Given the description of an element on the screen output the (x, y) to click on. 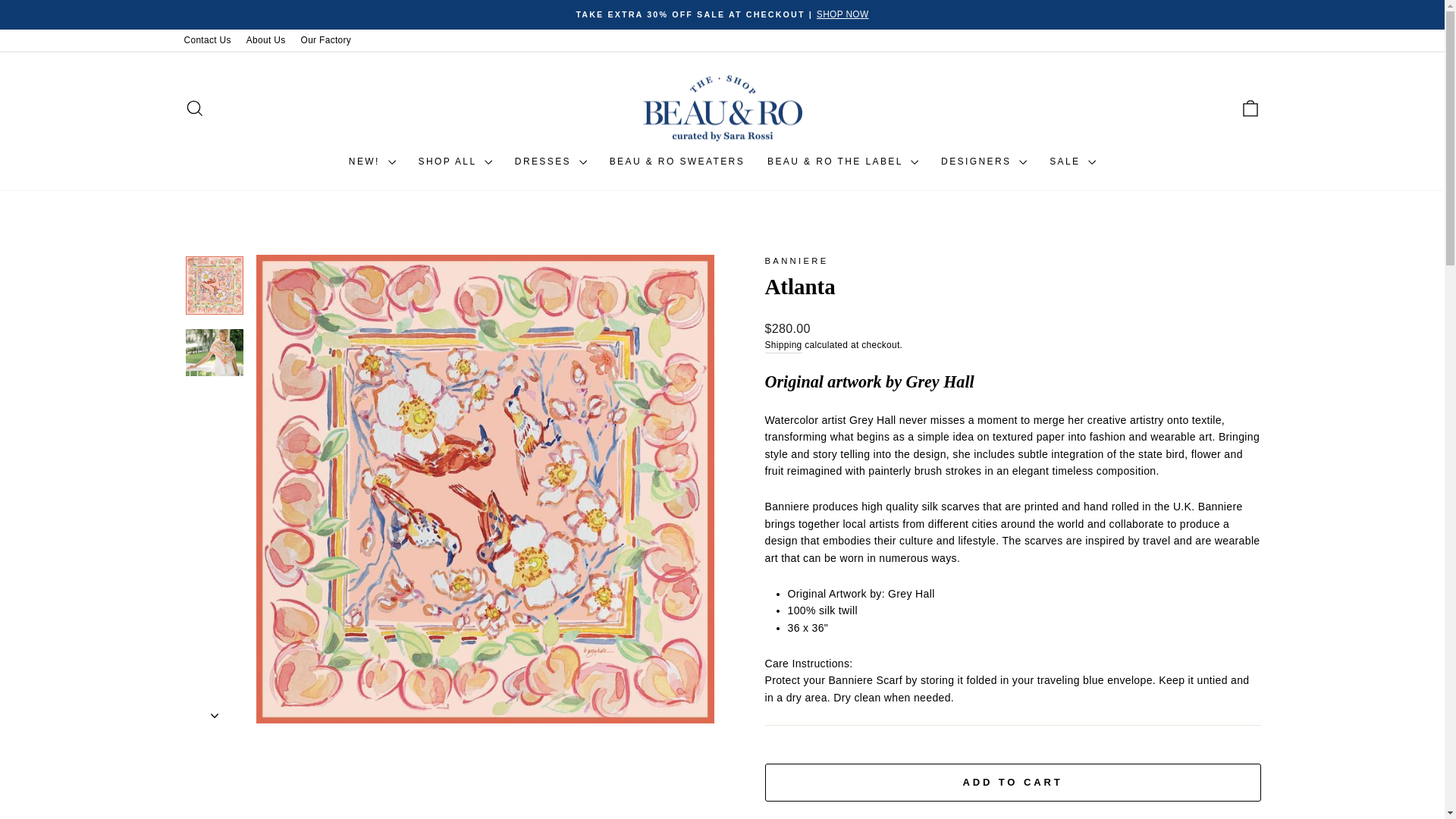
ICON-BAG-MINIMAL (1249, 107)
ICON-SEARCH (194, 107)
icon-chevron (214, 715)
